Given the description of an element on the screen output the (x, y) to click on. 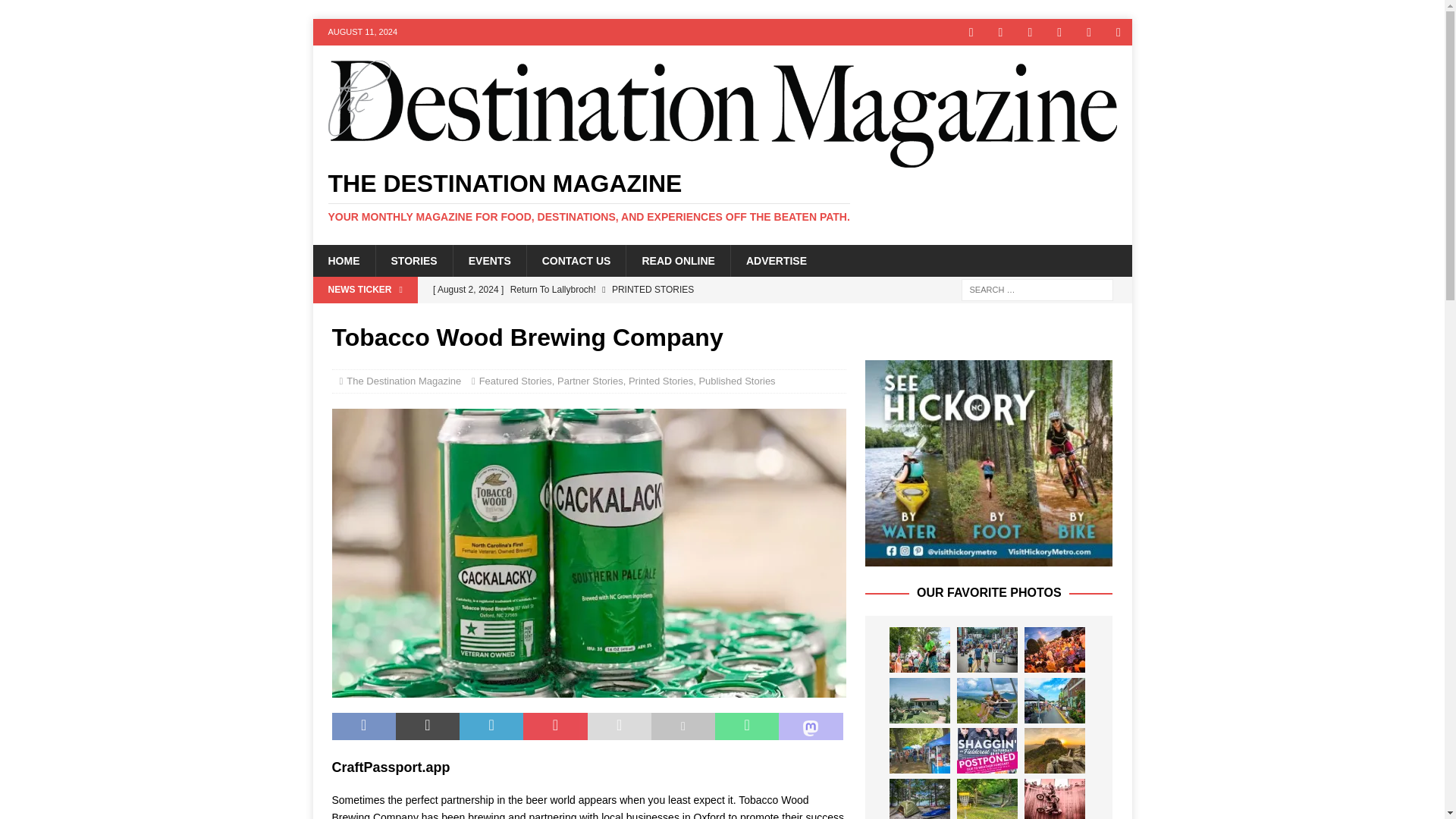
Partner Stories (590, 380)
ADVERTISE (776, 260)
HOME (343, 260)
Published Stories (736, 380)
READ ONLINE (677, 260)
the Destination Magazine (721, 196)
Featured Stories (515, 380)
Printed Stories (660, 380)
